Given the description of an element on the screen output the (x, y) to click on. 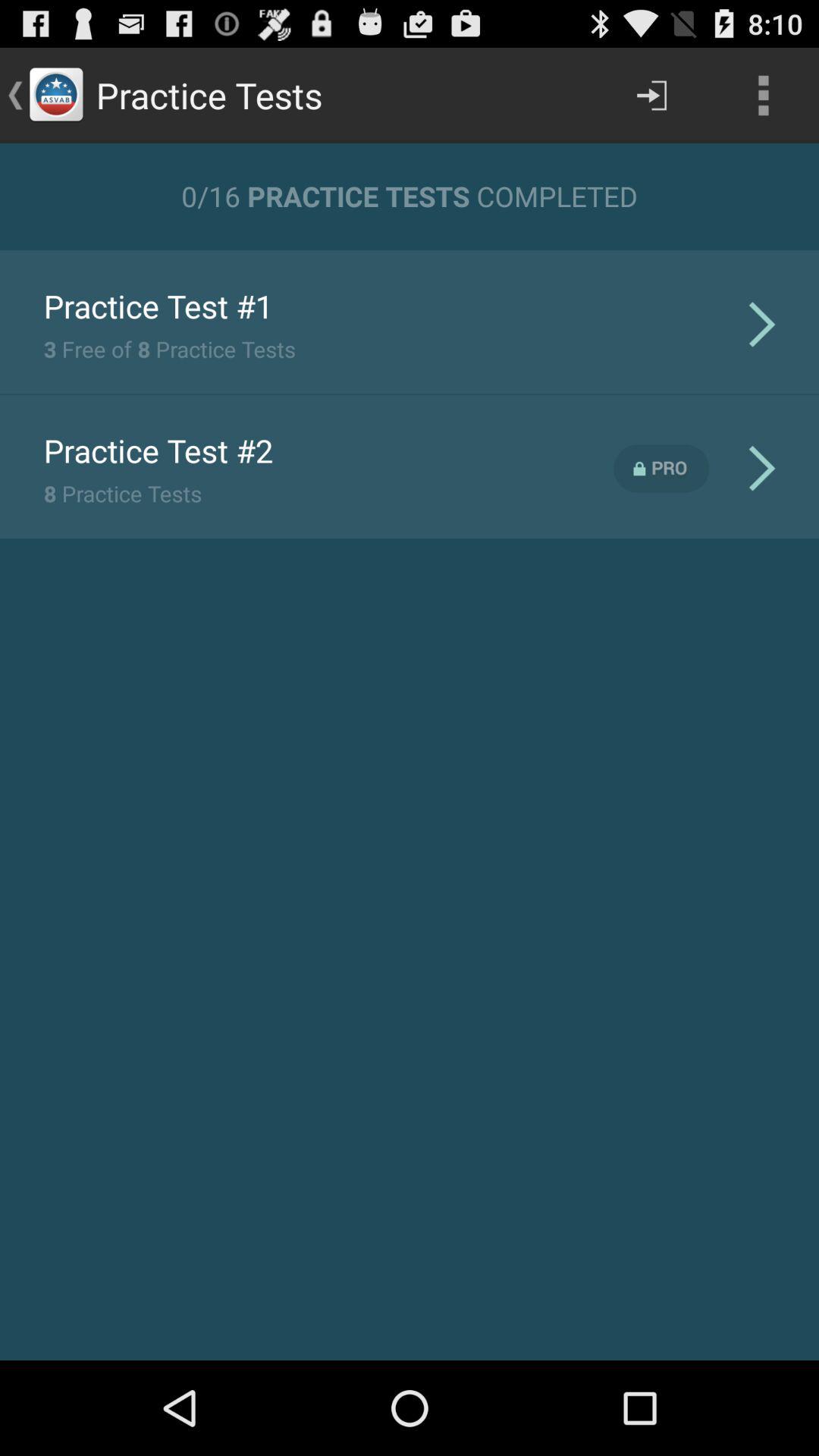
launch the item to the right of the 3 free of app (762, 323)
